Given the description of an element on the screen output the (x, y) to click on. 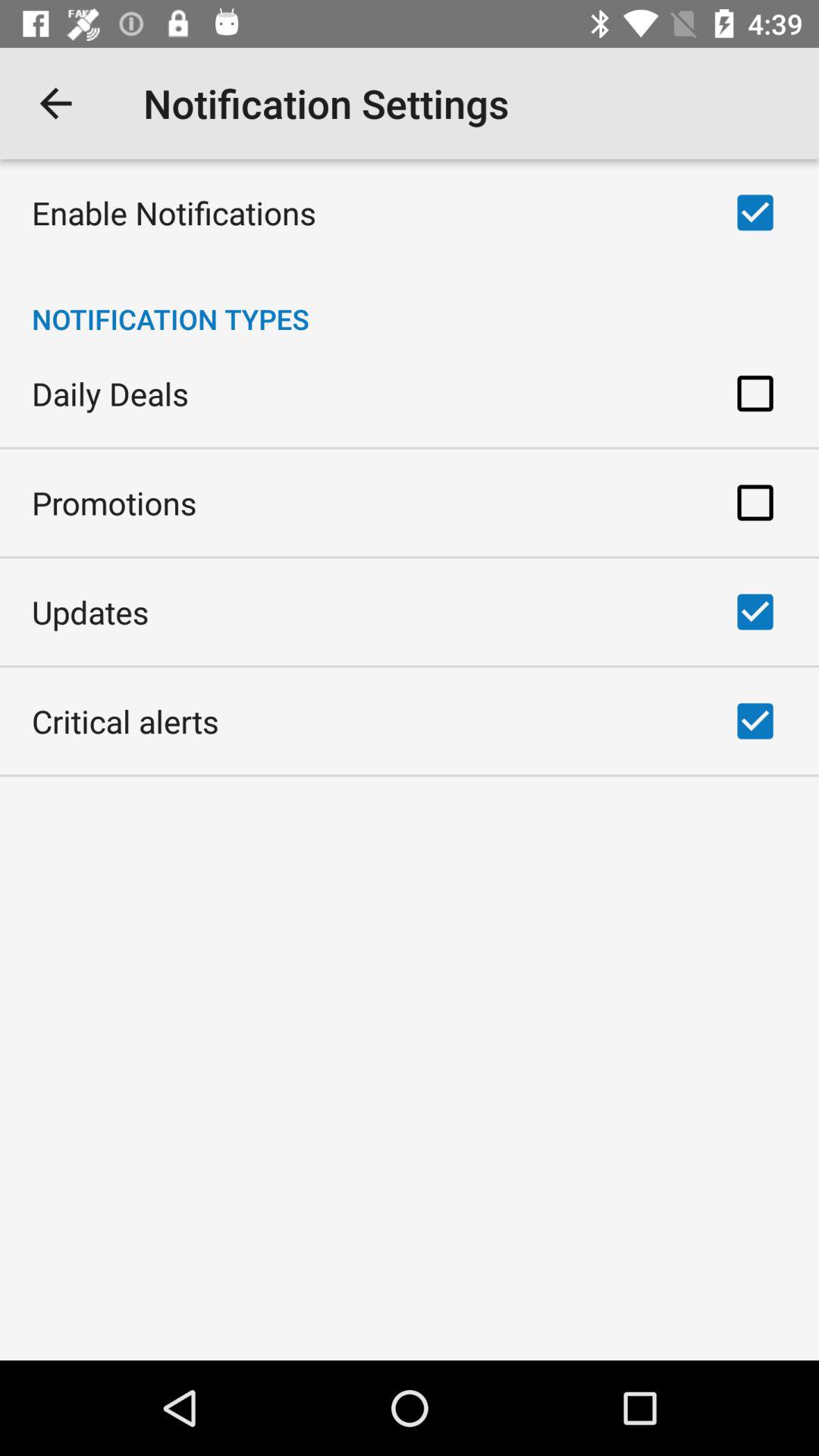
click on the third check button (755, 502)
click on the fourth check box (755, 611)
click on the enable notifications check box (755, 212)
go to the last checkbox from the top of the page (755, 720)
